Given the description of an element on the screen output the (x, y) to click on. 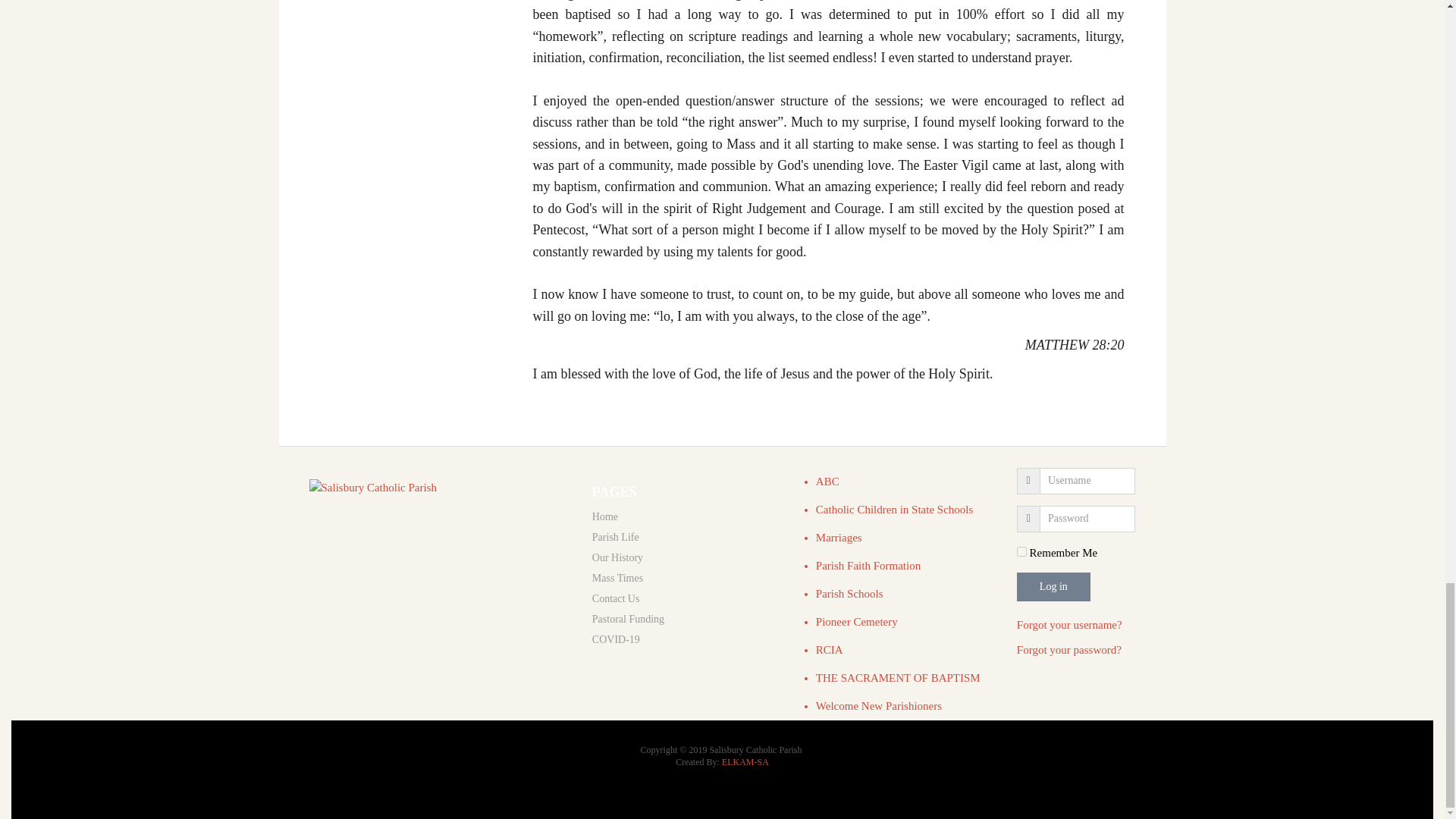
THE SACRAMENT OF BAPTISM (897, 677)
Mass Times (686, 578)
Parish Faith Formation (867, 565)
Welcome New Parishioners (878, 705)
Parish Schools (849, 593)
Pastoral Funding (686, 618)
RCIA (829, 649)
Salisbury Catholic Parish (438, 487)
Marriages (838, 537)
Home (686, 516)
Our History (686, 557)
COVID-19 (686, 639)
Contact Us (686, 598)
ABC (827, 481)
Catholic Children in State Schools (893, 509)
